Given the description of an element on the screen output the (x, y) to click on. 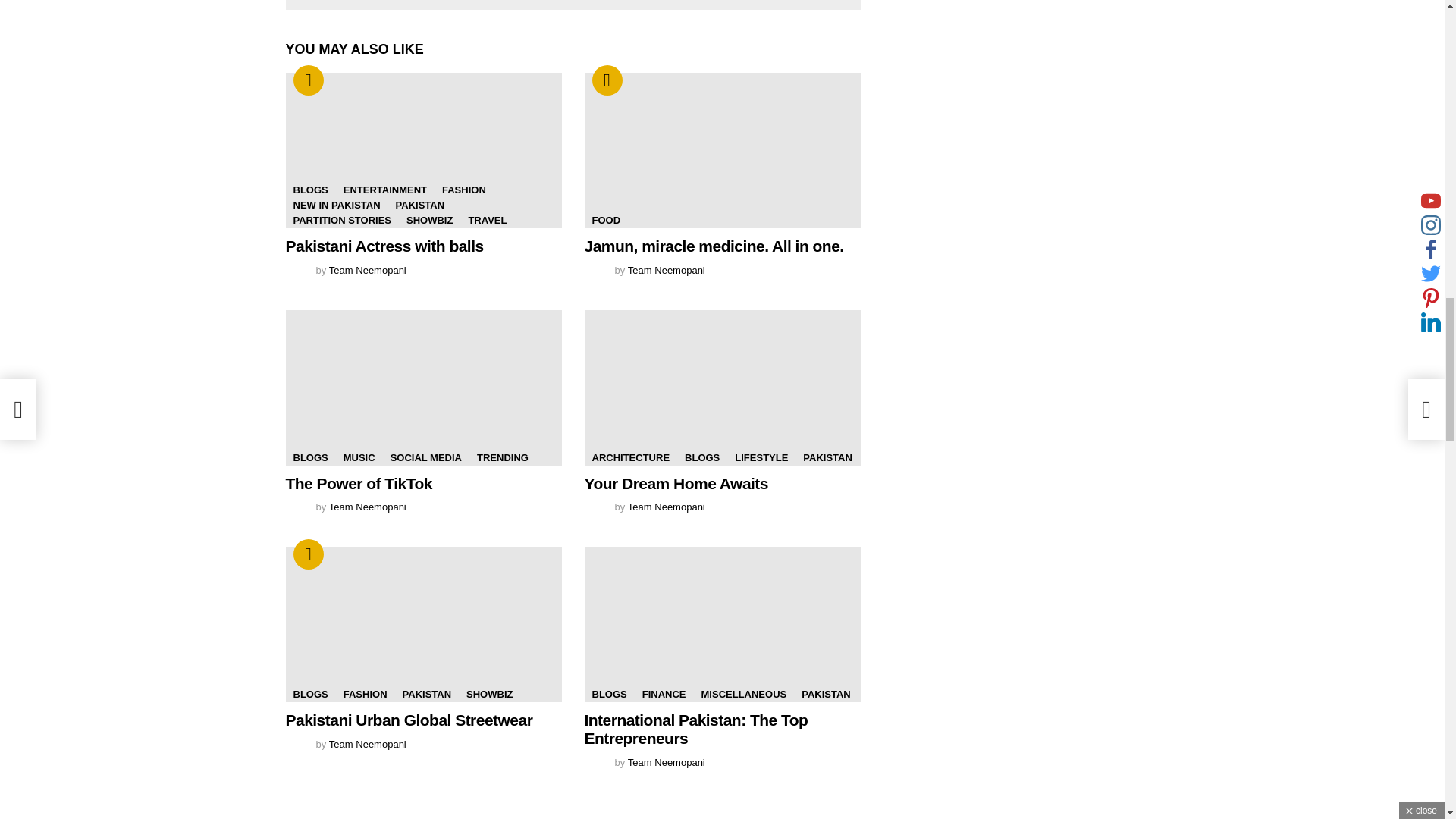
Pakistani Actress with balls (384, 245)
Hot (606, 80)
Jamun,  miracle medicine.   All in one. (721, 150)
FASHION (463, 190)
Pakistani Actress with balls (422, 150)
PARTITION STORIES (341, 220)
Hot (307, 80)
BLOGS (309, 190)
Hot (307, 80)
Posts by Team Neemopani (367, 506)
Your Dream Home Awaits (721, 388)
TRAVEL (486, 220)
PAKISTAN (420, 205)
NEW IN PAKISTAN (336, 205)
The Power of TikTok (422, 388)
